Given the description of an element on the screen output the (x, y) to click on. 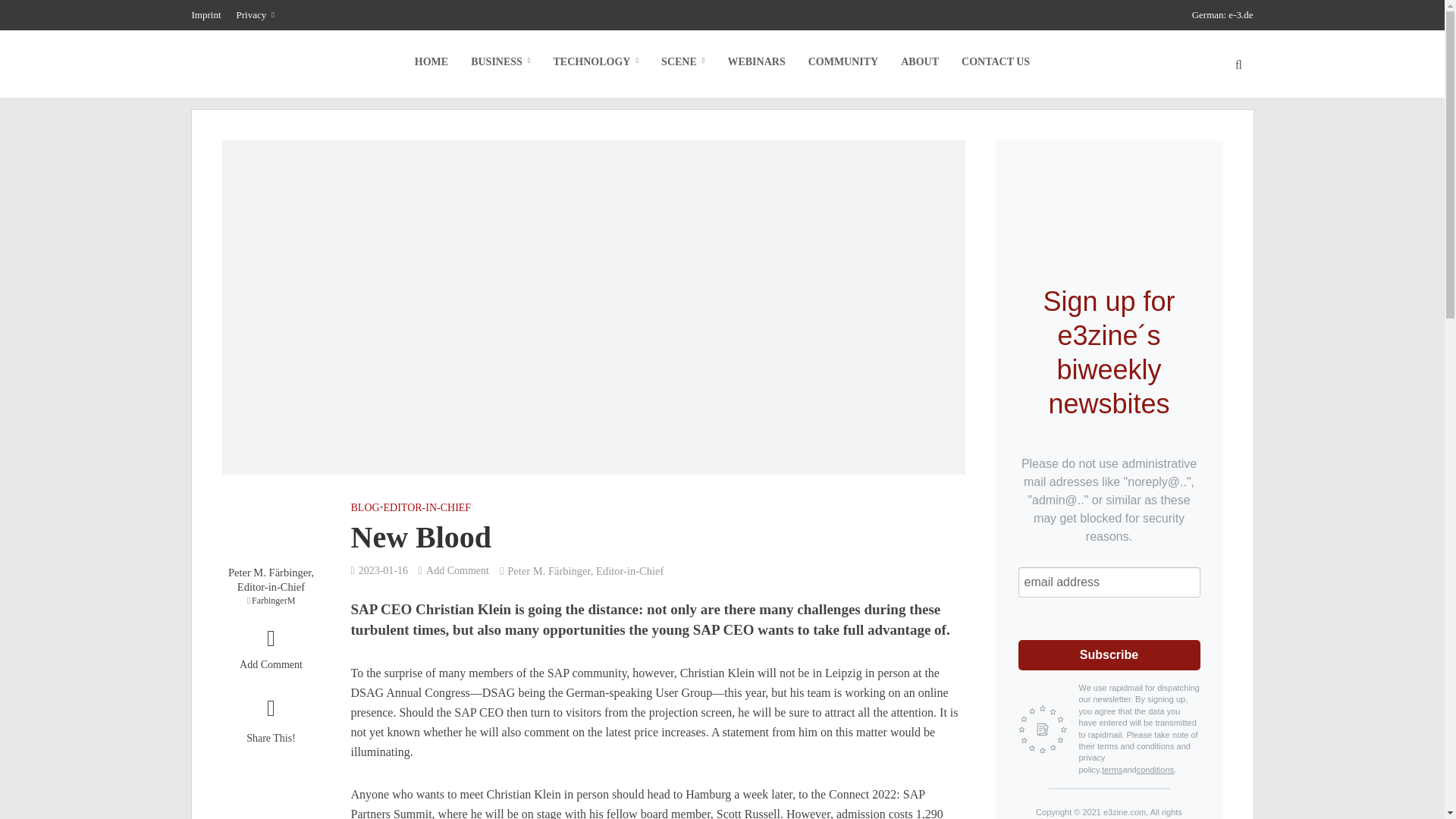
German: e-3.de (1219, 15)
HOME (431, 61)
BUSINESS (500, 61)
Privacy (255, 15)
Imprint (209, 15)
